Given the description of an element on the screen output the (x, y) to click on. 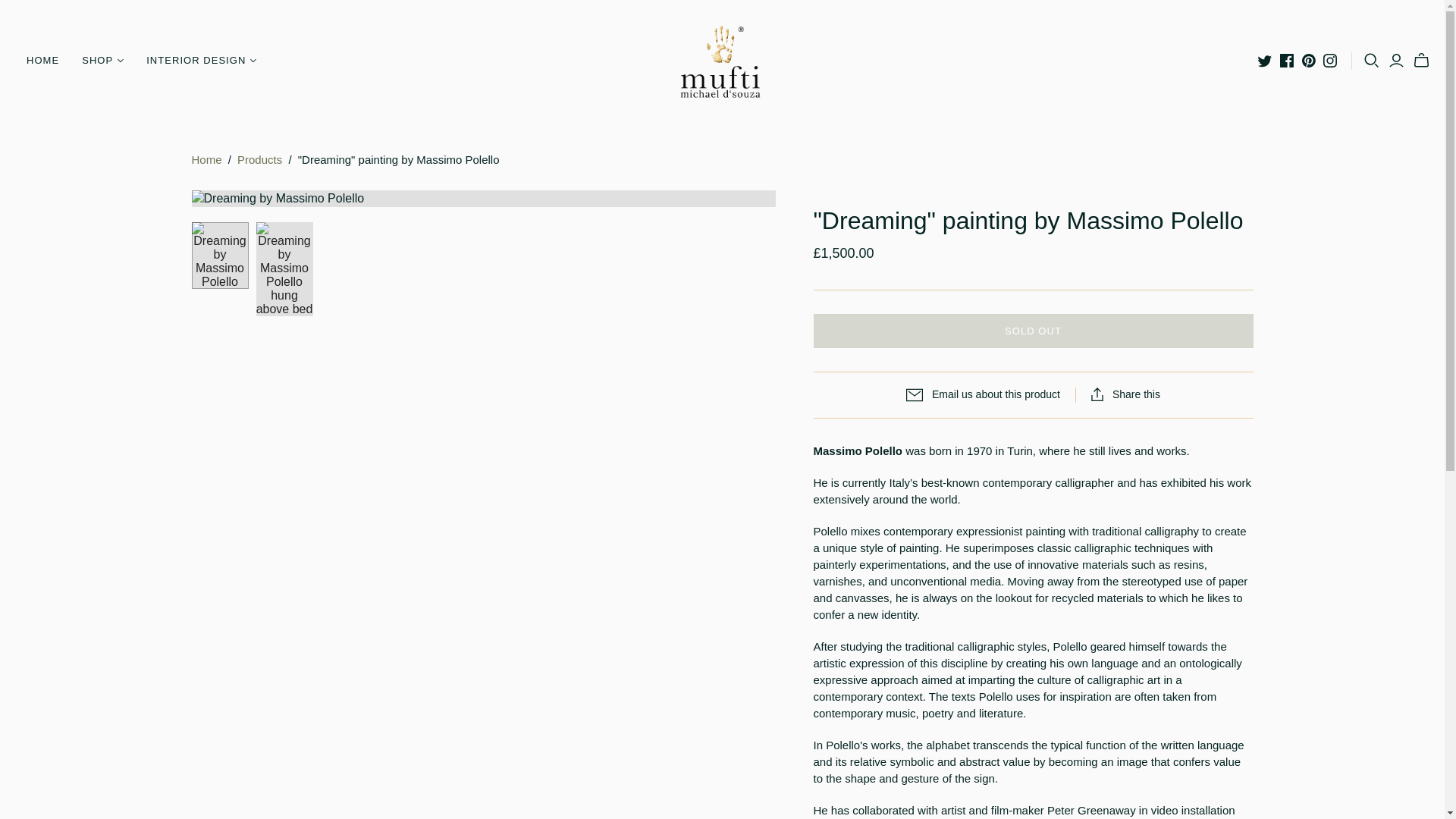
HOME (41, 60)
SHOP (102, 60)
INTERIOR DESIGN (201, 60)
